Given the description of an element on the screen output the (x, y) to click on. 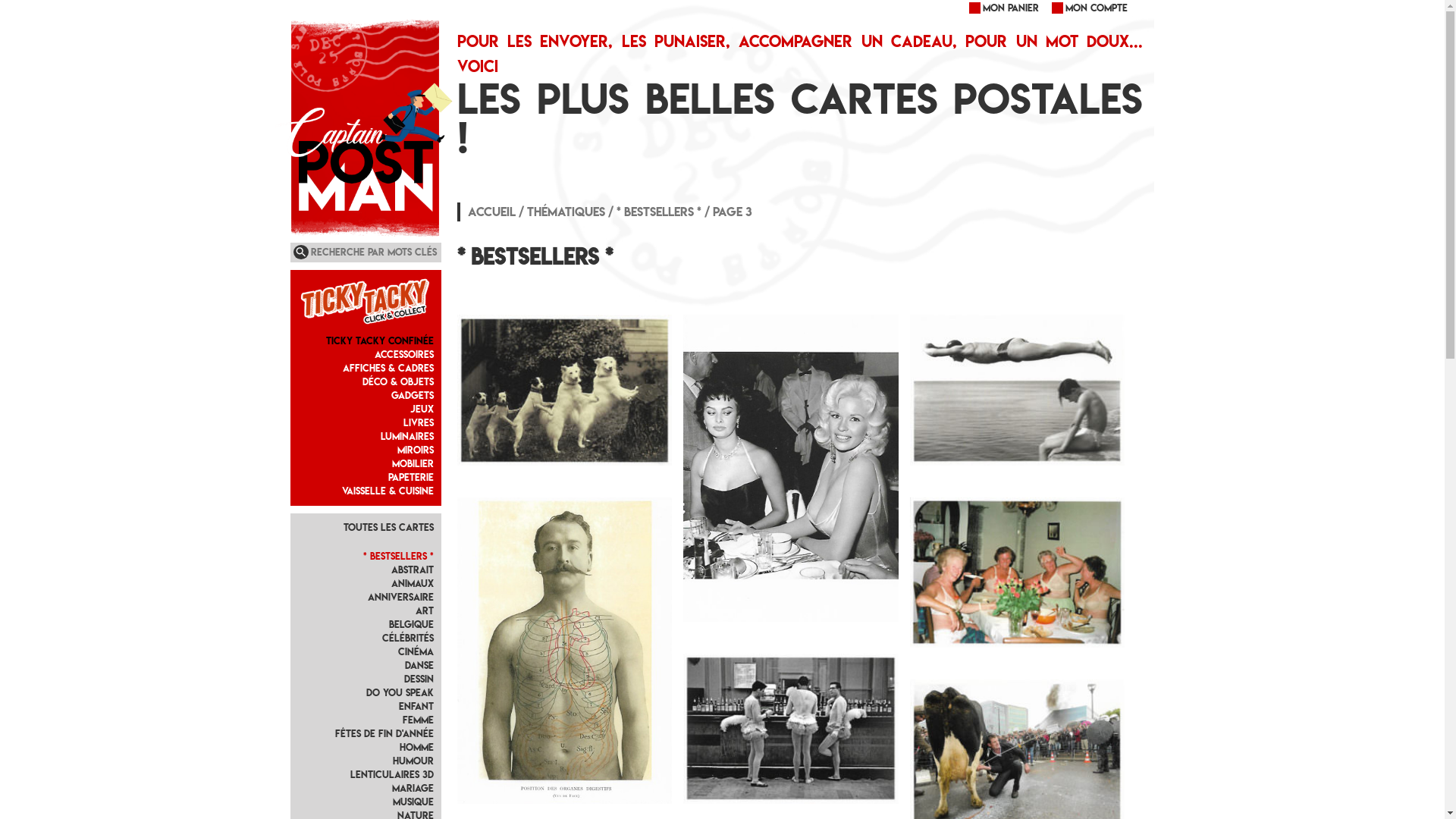
Belgique Element type: text (411, 624)
Affiches & Cadres Element type: text (387, 367)
Danse Element type: text (418, 664)
Art Element type: text (424, 610)
Accessoires Element type: text (403, 354)
Mon compte Element type: text (1088, 7)
Papeterie Element type: text (410, 476)
Humour Element type: text (412, 760)
Miroirs Element type: text (415, 449)
Captain postman Belgique Element type: text (340, 51)
abstrait Element type: text (412, 569)
* BESTSELLERS * Element type: text (398, 555)
Accueil Element type: text (491, 211)
Musique Element type: text (412, 801)
Enfant Element type: text (415, 705)
Lenticulaires 3D Element type: text (391, 774)
Dessin Element type: text (418, 678)
Femme Element type: text (417, 719)
* BESTSELLERS * Element type: text (658, 211)
Animaux Element type: text (412, 583)
Jeux Element type: text (421, 408)
Toutes les cartes Element type: text (388, 526)
Luminaires Element type: text (406, 435)
Homme Element type: text (416, 746)
Vaisselle & cuisine Element type: text (387, 490)
Do you speak Element type: text (399, 692)
Livres Element type: text (418, 422)
Mon Panier Element type: text (1002, 7)
mariage Element type: text (412, 787)
Mobilier Element type: text (412, 463)
Gadgets Element type: text (412, 395)
Anniversaire Element type: text (400, 596)
